Given the description of an element on the screen output the (x, y) to click on. 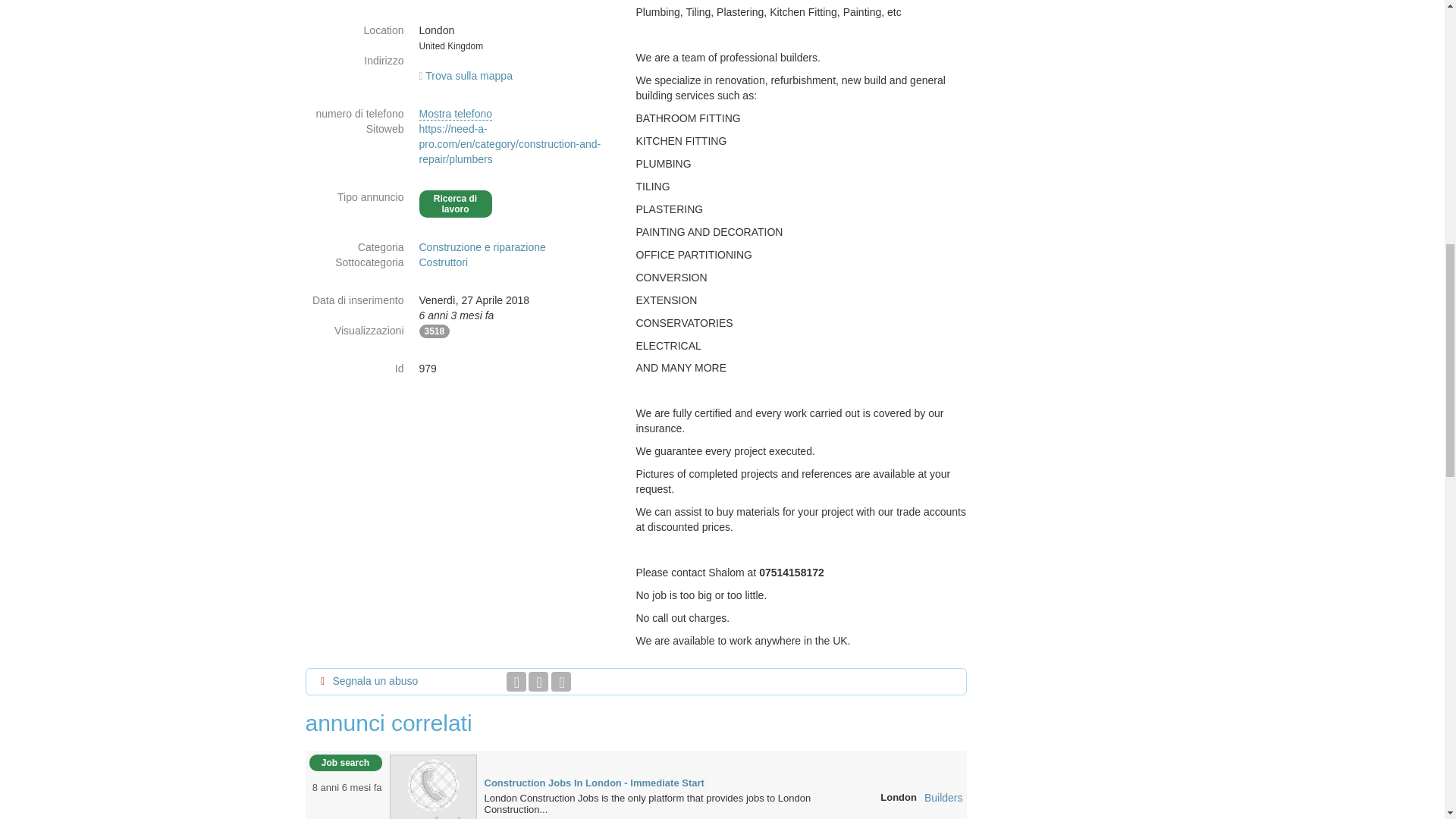
VK (560, 681)
Construction Jobs In London - Immediate Start (433, 797)
Facebook (515, 681)
Twitter (538, 681)
